Given the description of an element on the screen output the (x, y) to click on. 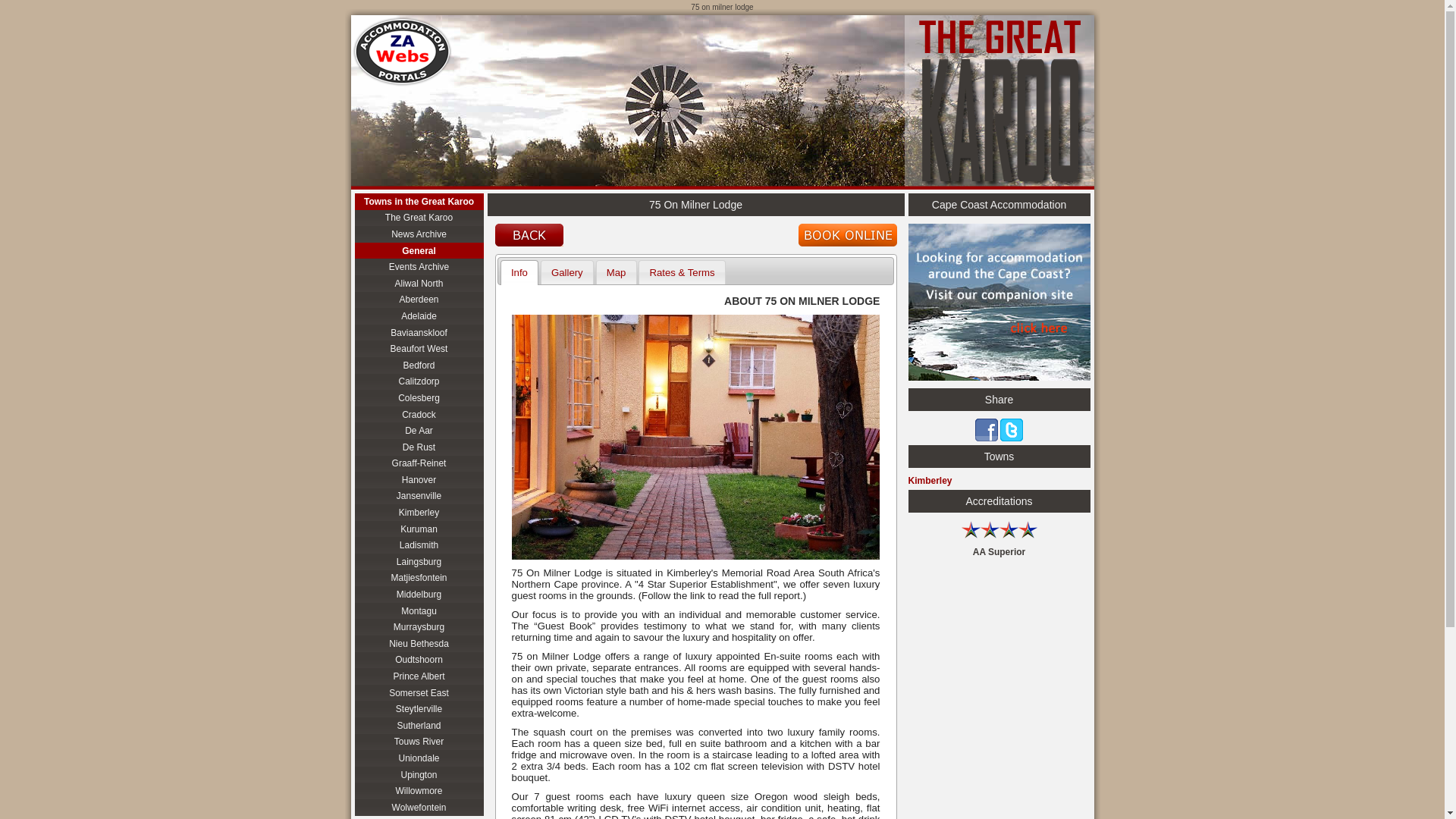
Aberdeen (419, 299)
Sutherland (419, 725)
Graaff-Reinet (419, 463)
News Archive (419, 234)
Ladismith (419, 545)
Adelaide (419, 315)
De Aar (419, 430)
Murraysburg (419, 627)
Willowmore (419, 790)
Matjiesfontein (419, 578)
Nieu Bethesda (419, 643)
Events Archive (419, 266)
Info (518, 272)
Jansenville (419, 496)
Prince Albert (419, 676)
